Given the description of an element on the screen output the (x, y) to click on. 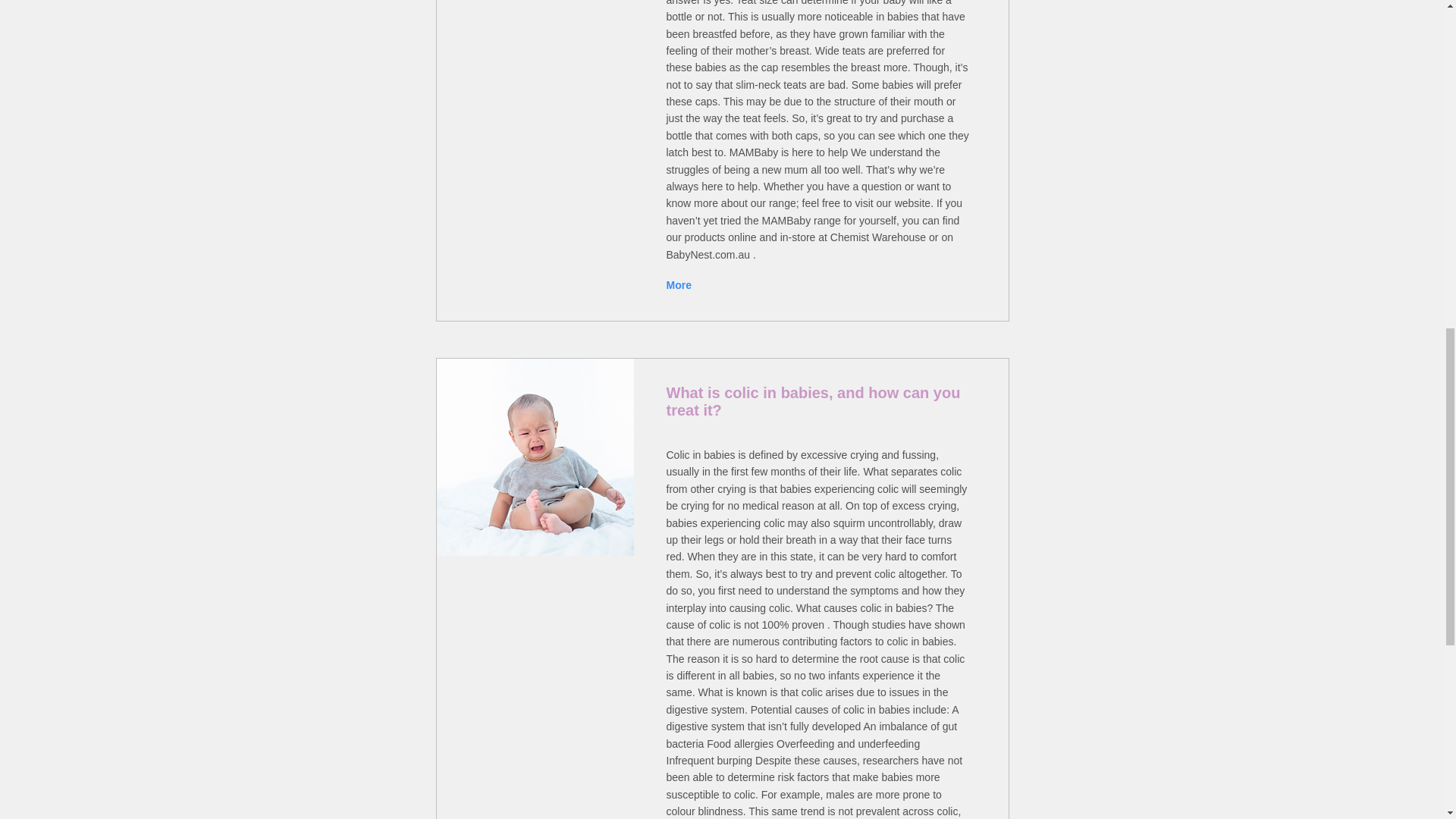
More (680, 285)
What is colic in babies, and how can you treat it? (534, 457)
